Given the description of an element on the screen output the (x, y) to click on. 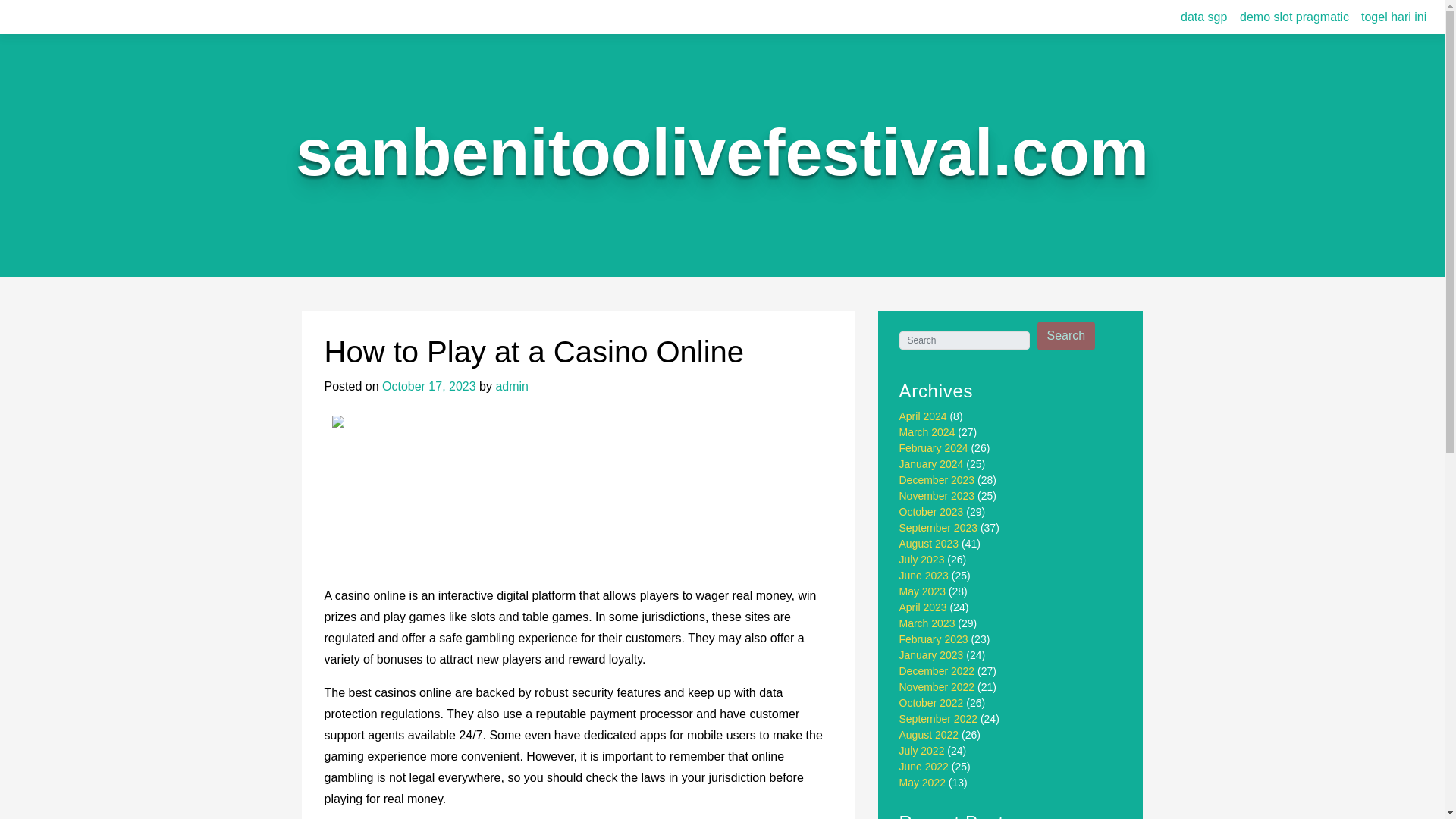
February 2023 (933, 639)
July 2023 (921, 559)
November 2023 (937, 495)
May 2023 (921, 591)
February 2024 (933, 448)
December 2023 (937, 480)
demo slot pragmatic (1294, 16)
June 2022 (924, 766)
demo slot pragmatic (1294, 16)
data sgp (1203, 16)
October 2022 (931, 702)
January 2023 (931, 654)
admin (511, 386)
October 2023 (931, 511)
December 2022 (937, 671)
